Given the description of an element on the screen output the (x, y) to click on. 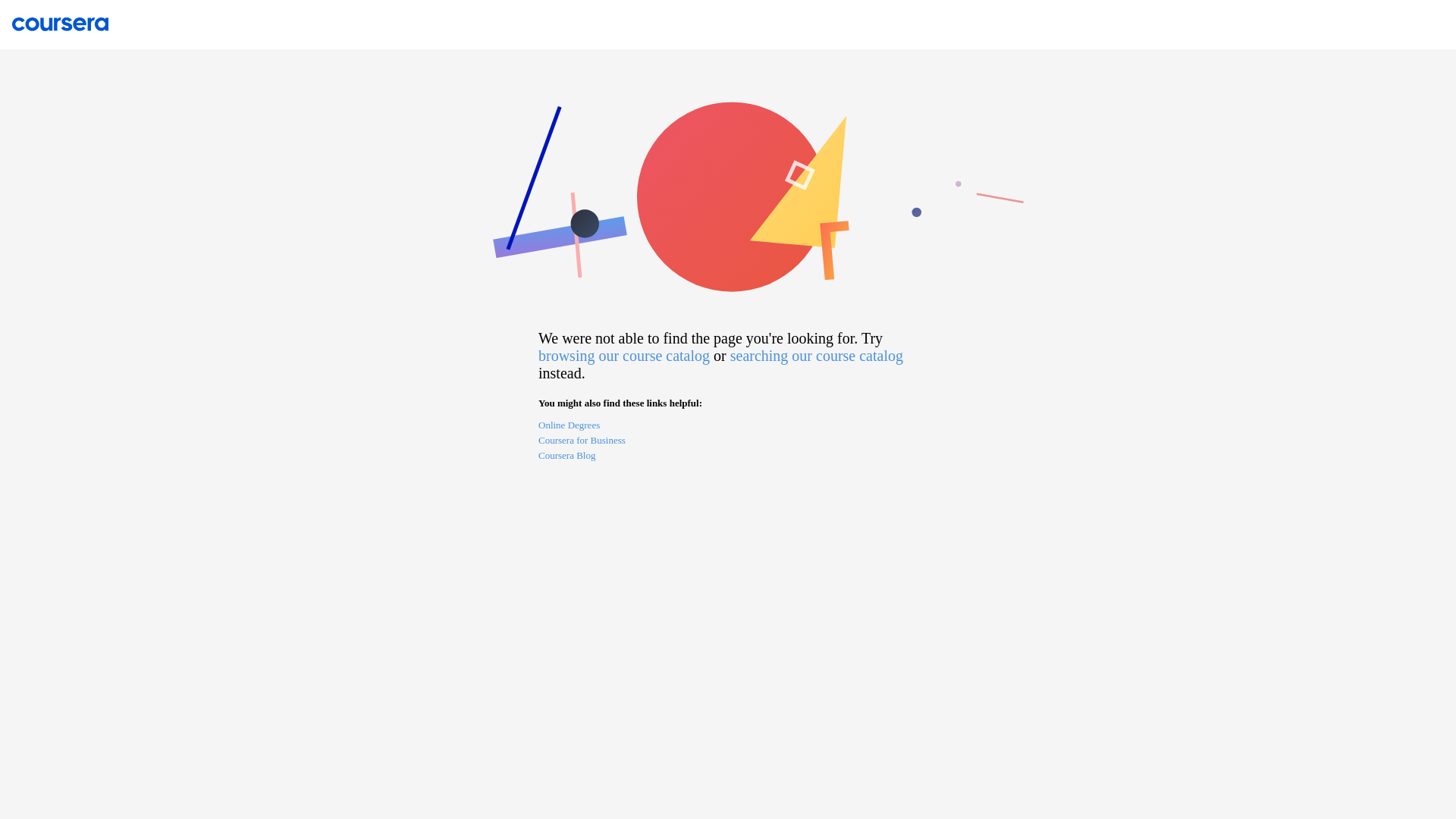
Coursera Blog (727, 457)
Coursera for Business (727, 441)
browsing our course catalog (624, 355)
searching our course catalog (816, 355)
Online Degrees (727, 426)
